Given the description of an element on the screen output the (x, y) to click on. 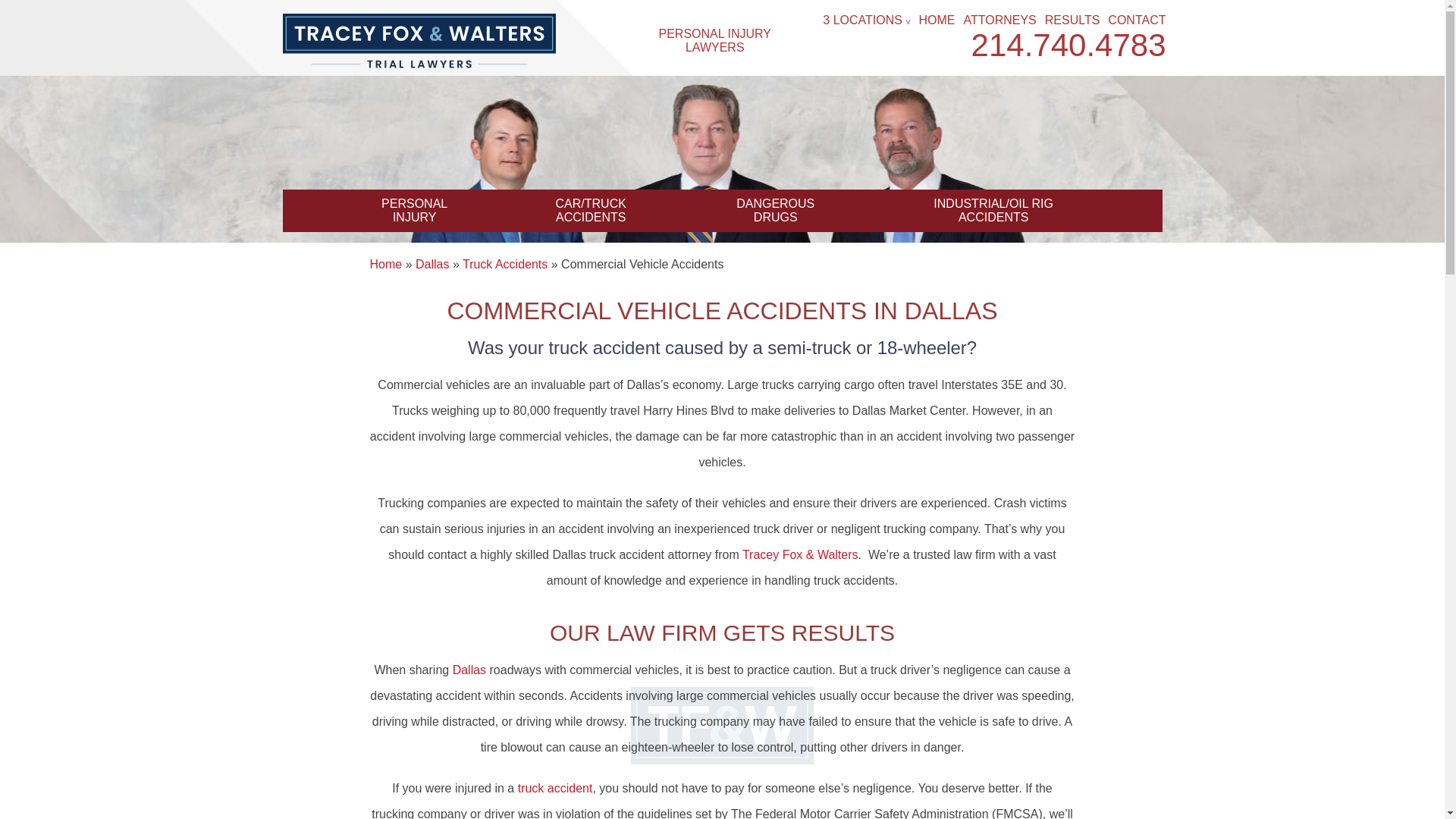
Home (386, 264)
HOME (775, 210)
Truck Accidents (936, 19)
truck accident (413, 210)
CONTACT (505, 264)
Truck Accidents (555, 788)
Dallas (1137, 19)
RESULTS (555, 788)
